Given the description of an element on the screen output the (x, y) to click on. 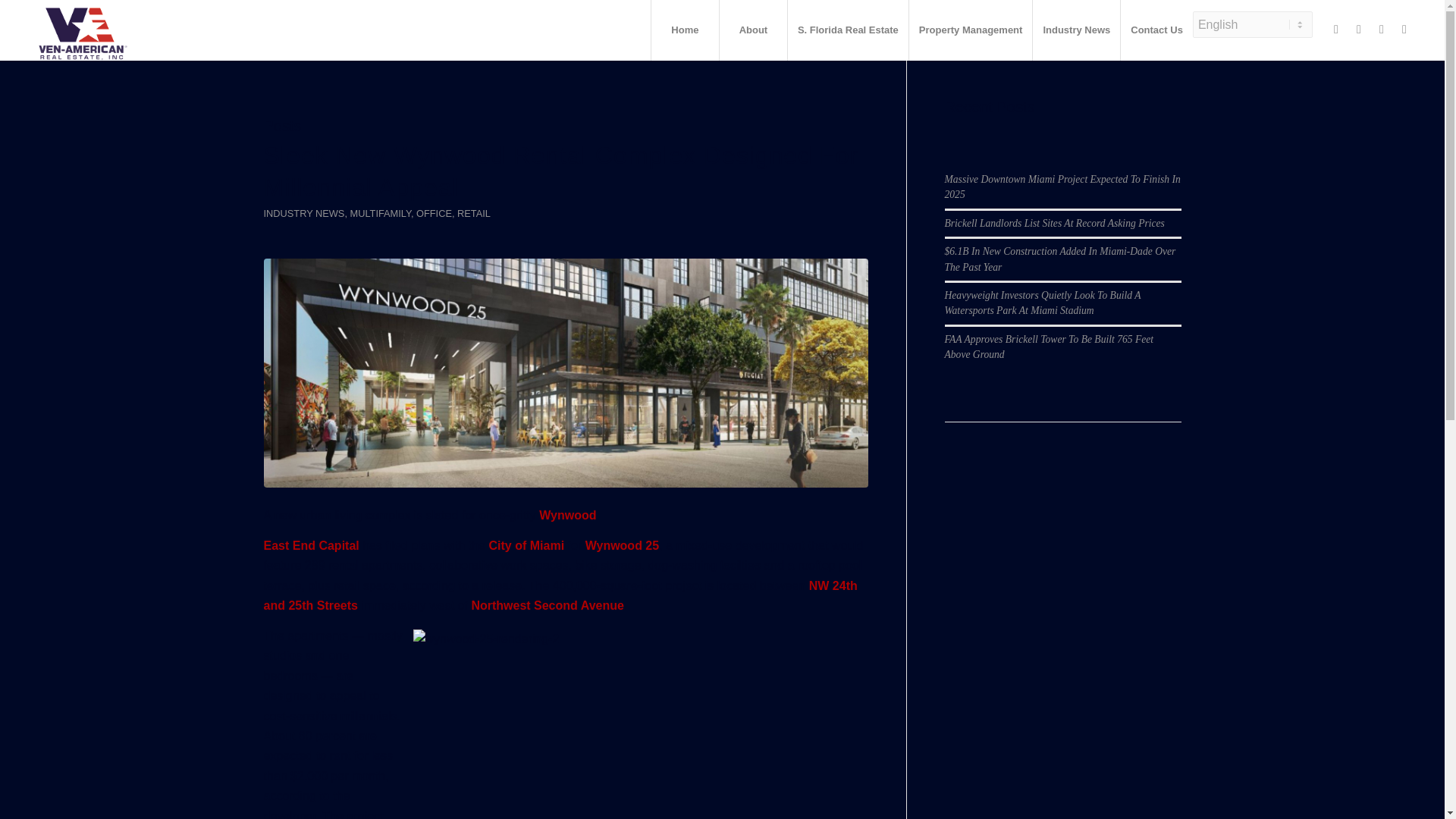
Property Management (970, 30)
About (753, 30)
LinkedIn (1381, 29)
Rss (1404, 29)
Massive Downtown Miami Project Expected To Finish In 2025 (1062, 186)
Contact Us (1155, 30)
Home (684, 30)
INDUSTRY NEWS (304, 213)
Industry News (1075, 30)
S. Florida Real Estate (847, 30)
OFFICE (433, 213)
